Given the description of an element on the screen output the (x, y) to click on. 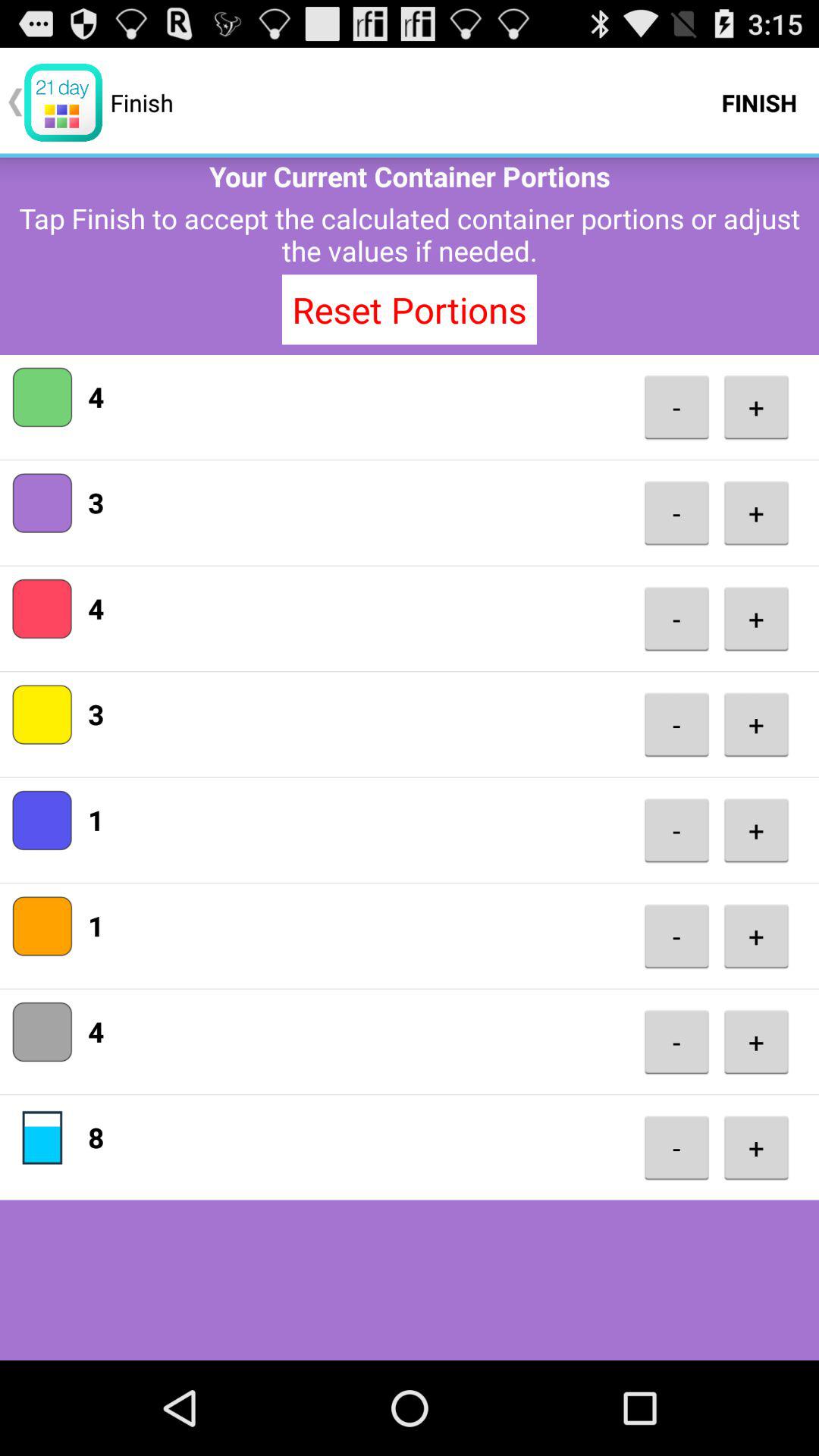
open item below - button (756, 724)
